Given the description of an element on the screen output the (x, y) to click on. 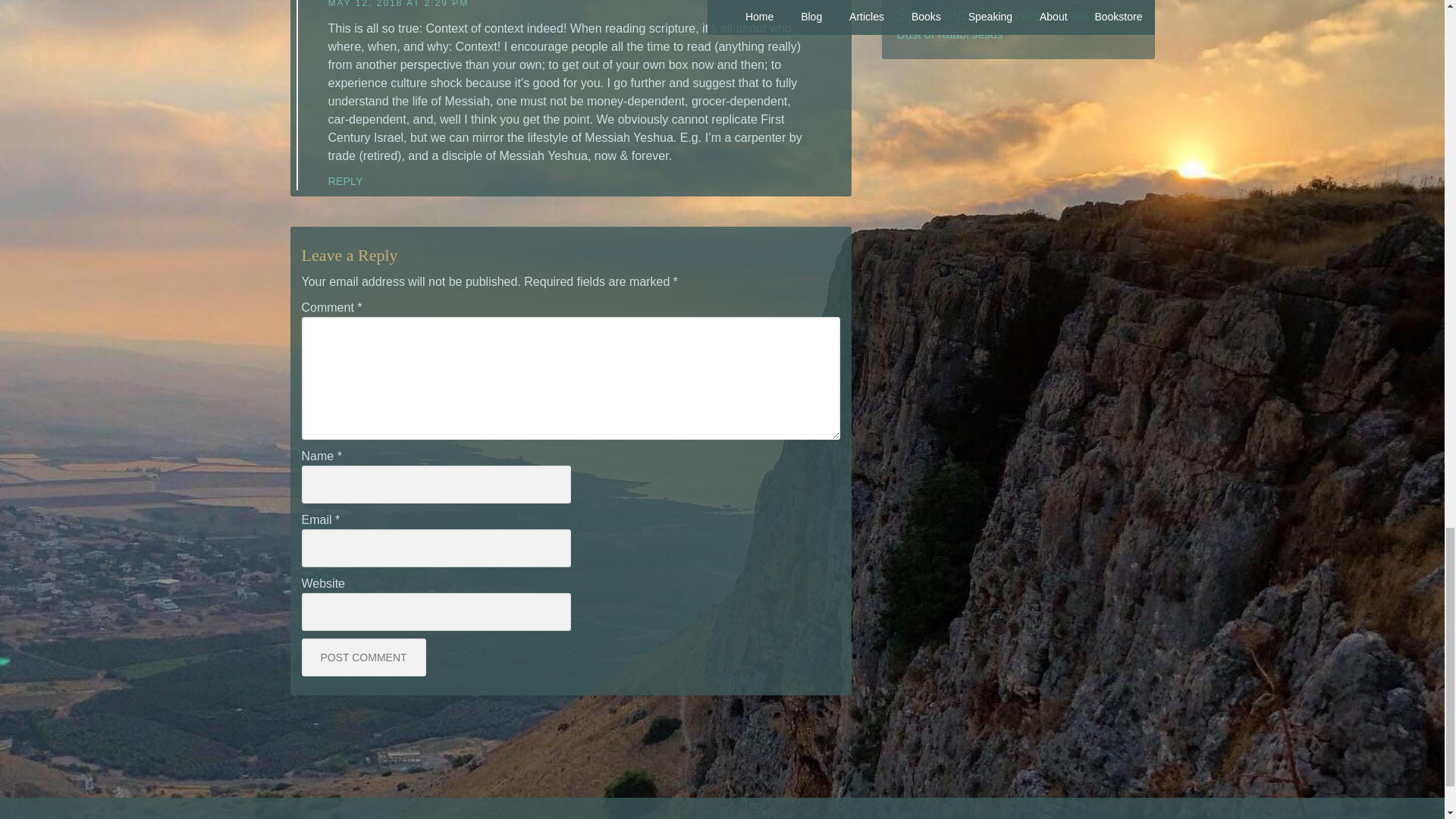
Post Comment (363, 657)
REPLY (344, 181)
MAY 12, 2018 AT 2:29 PM (397, 4)
Post Comment (363, 657)
